Given the description of an element on the screen output the (x, y) to click on. 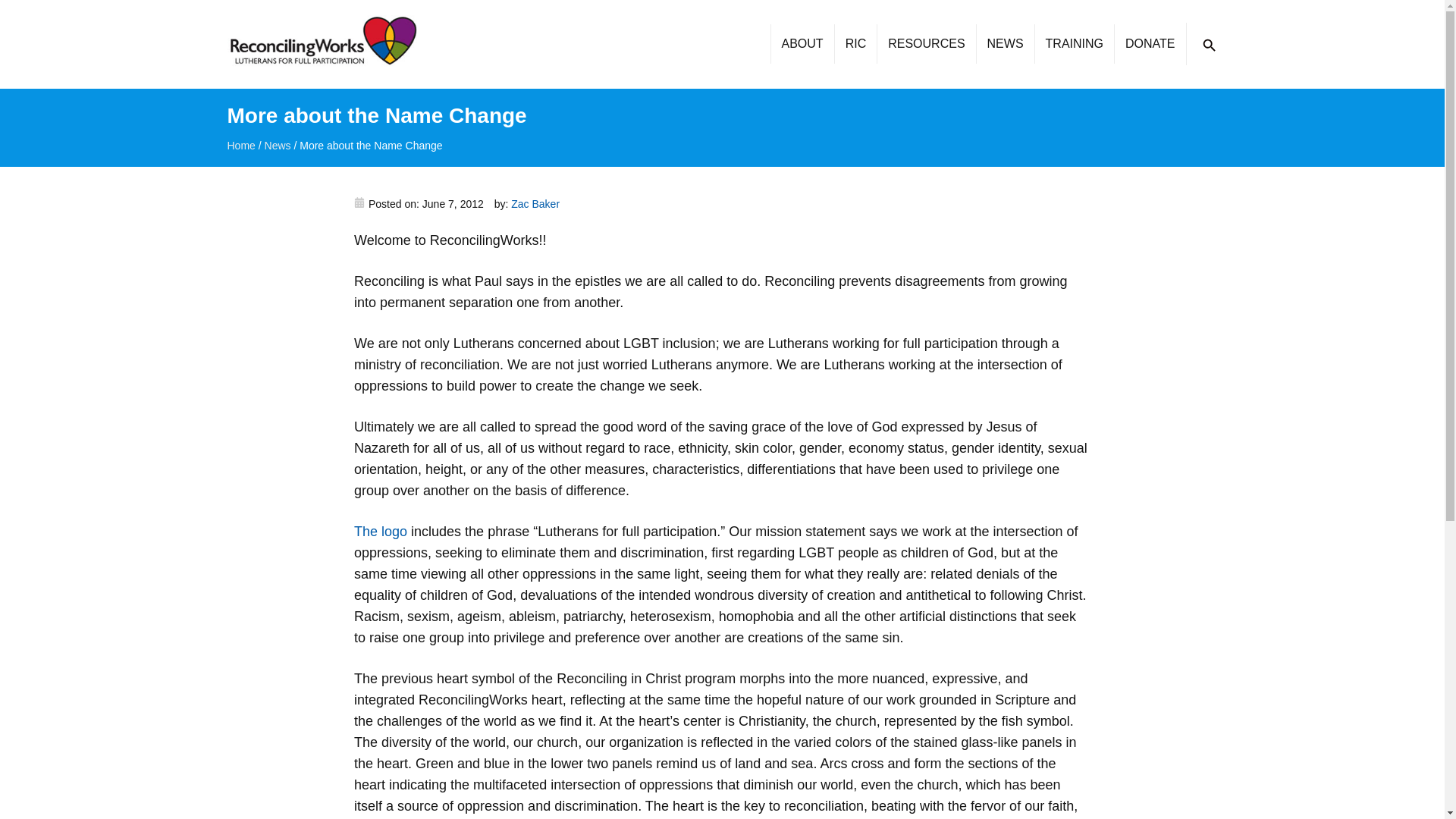
ABOUT (802, 43)
DONATE (1149, 43)
NEWS (1004, 43)
Reconciling Works (321, 44)
Posts by Zac Baker (535, 203)
TRAINING (1073, 43)
RIC (855, 43)
RESOURCES (925, 43)
